Given the description of an element on the screen output the (x, y) to click on. 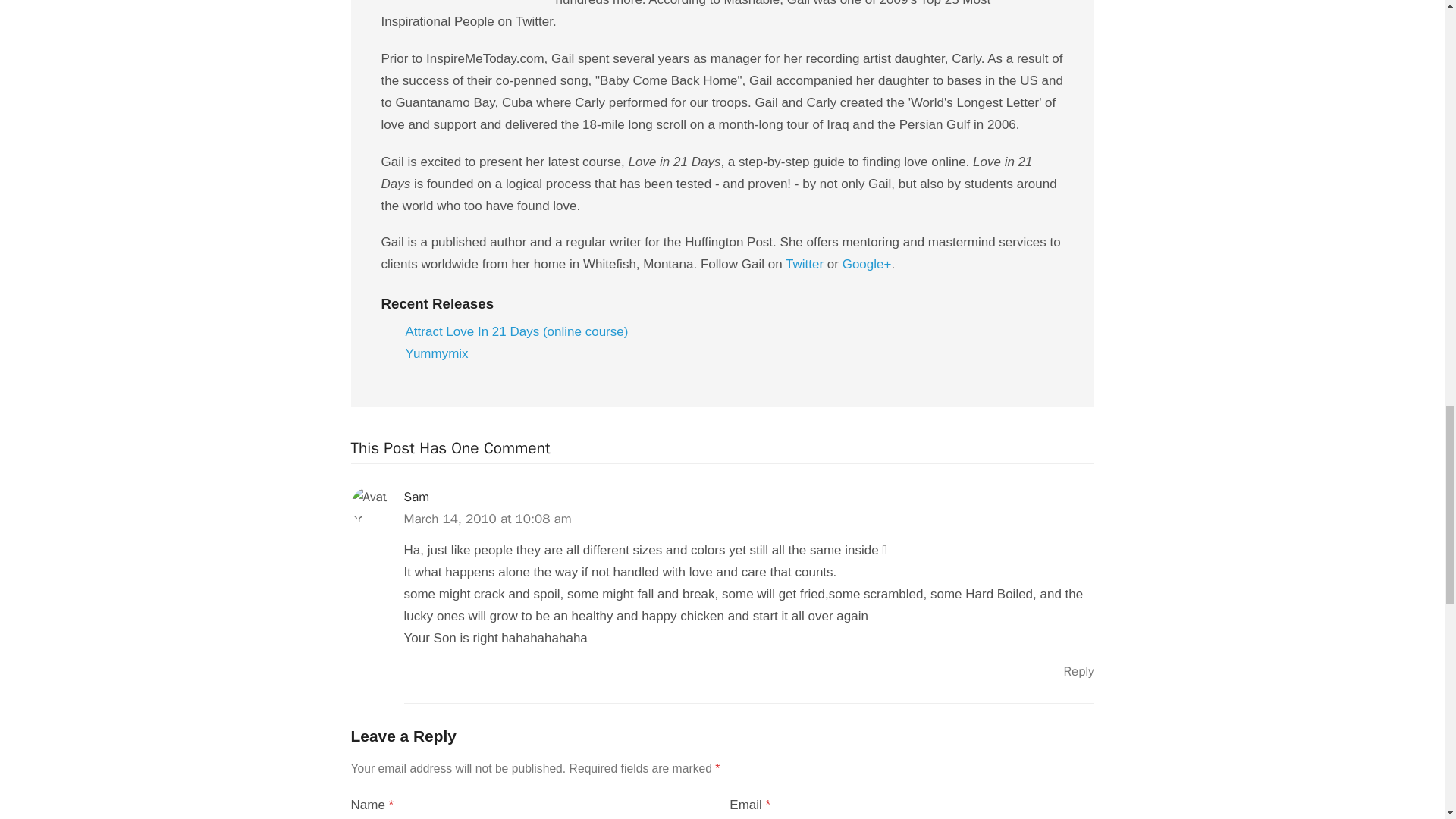
March 14, 2010 at 10:08 am (486, 519)
Reply (1077, 671)
Twitter (805, 264)
Yummymix (435, 354)
